Given the description of an element on the screen output the (x, y) to click on. 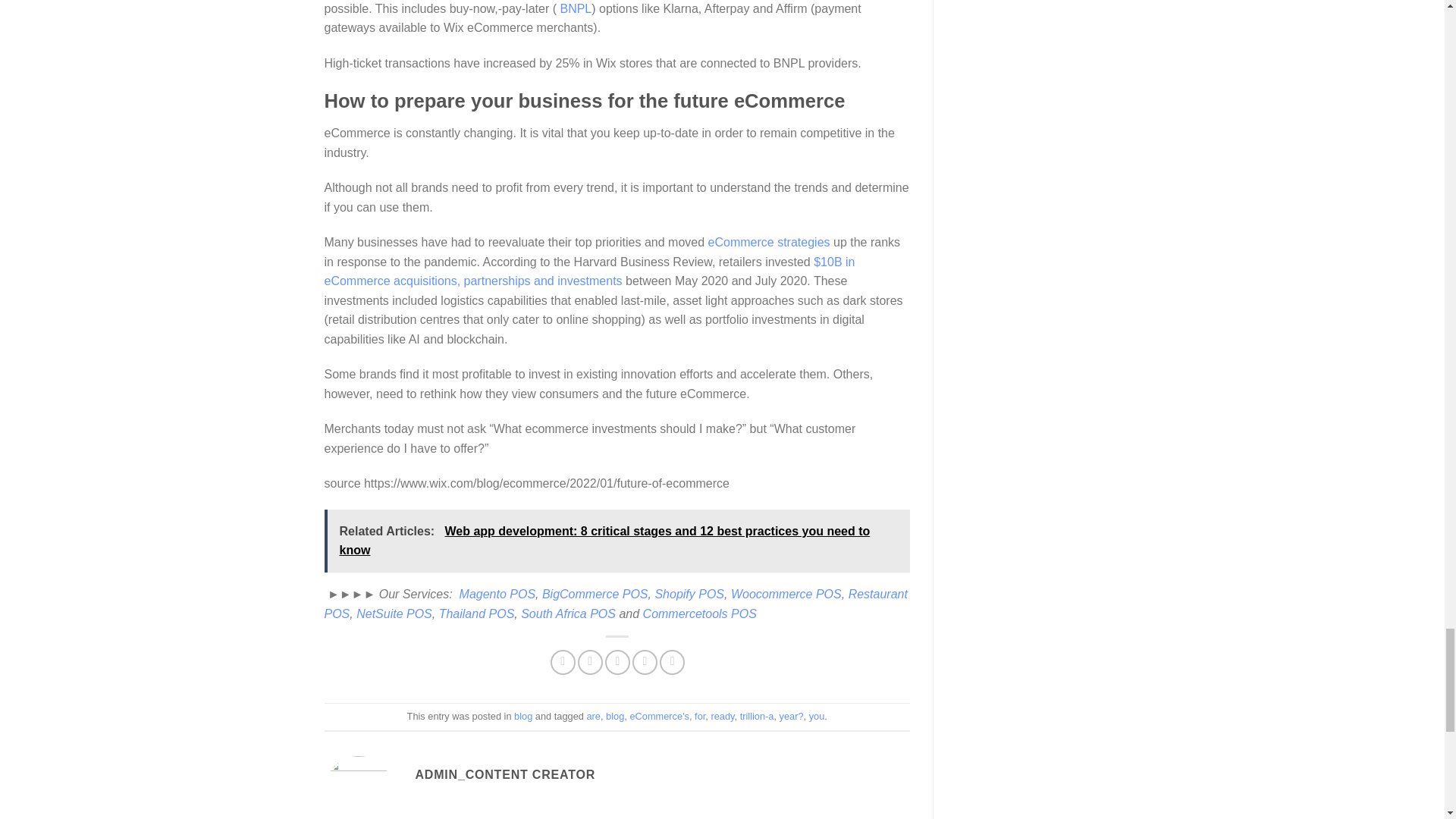
woocommerce pos (785, 594)
Bigcommerce pos (594, 594)
shopify pos (688, 594)
magento pos extension (497, 594)
